Given the description of an element on the screen output the (x, y) to click on. 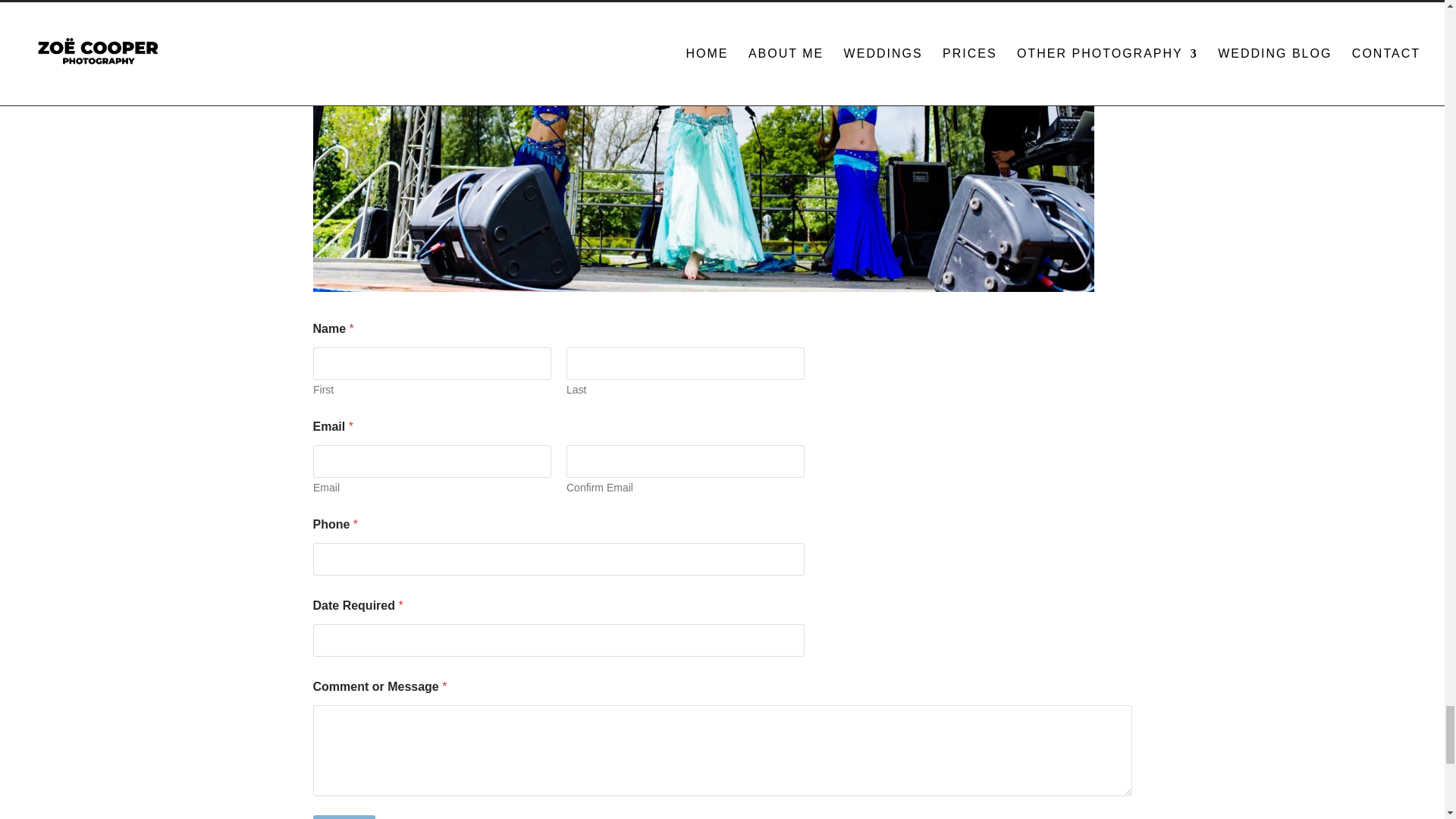
Submit (344, 816)
